Given the description of an element on the screen output the (x, y) to click on. 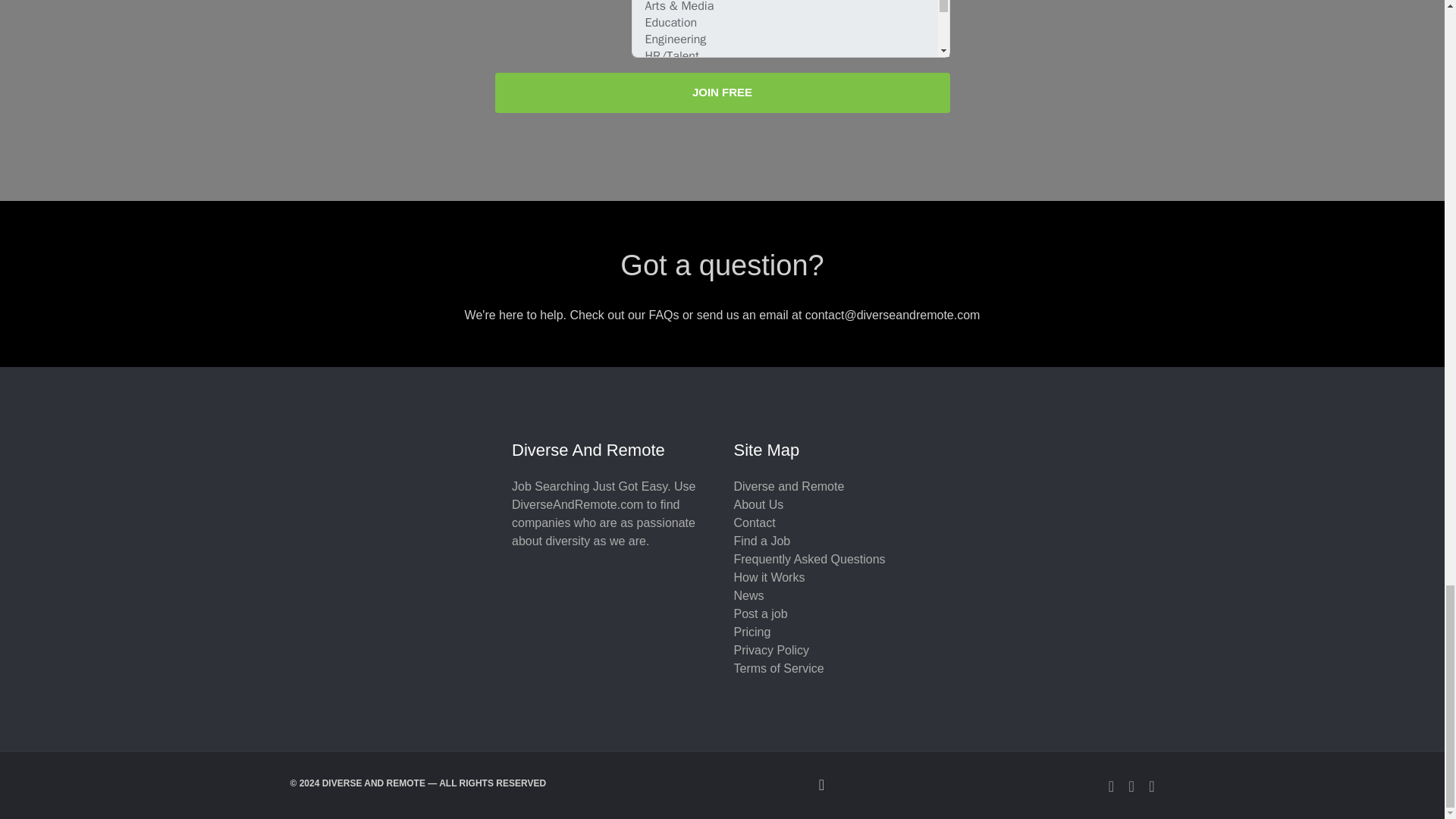
Find a Job (761, 540)
News (748, 594)
JOIN FREE (722, 92)
Privacy Policy (771, 649)
Post a job (760, 613)
Contact (754, 522)
About Us (758, 504)
How it Works (769, 576)
Terms of Service (778, 667)
Frequently Asked Questions (809, 558)
Diverse and Remote (788, 486)
Pricing (752, 631)
